Given the description of an element on the screen output the (x, y) to click on. 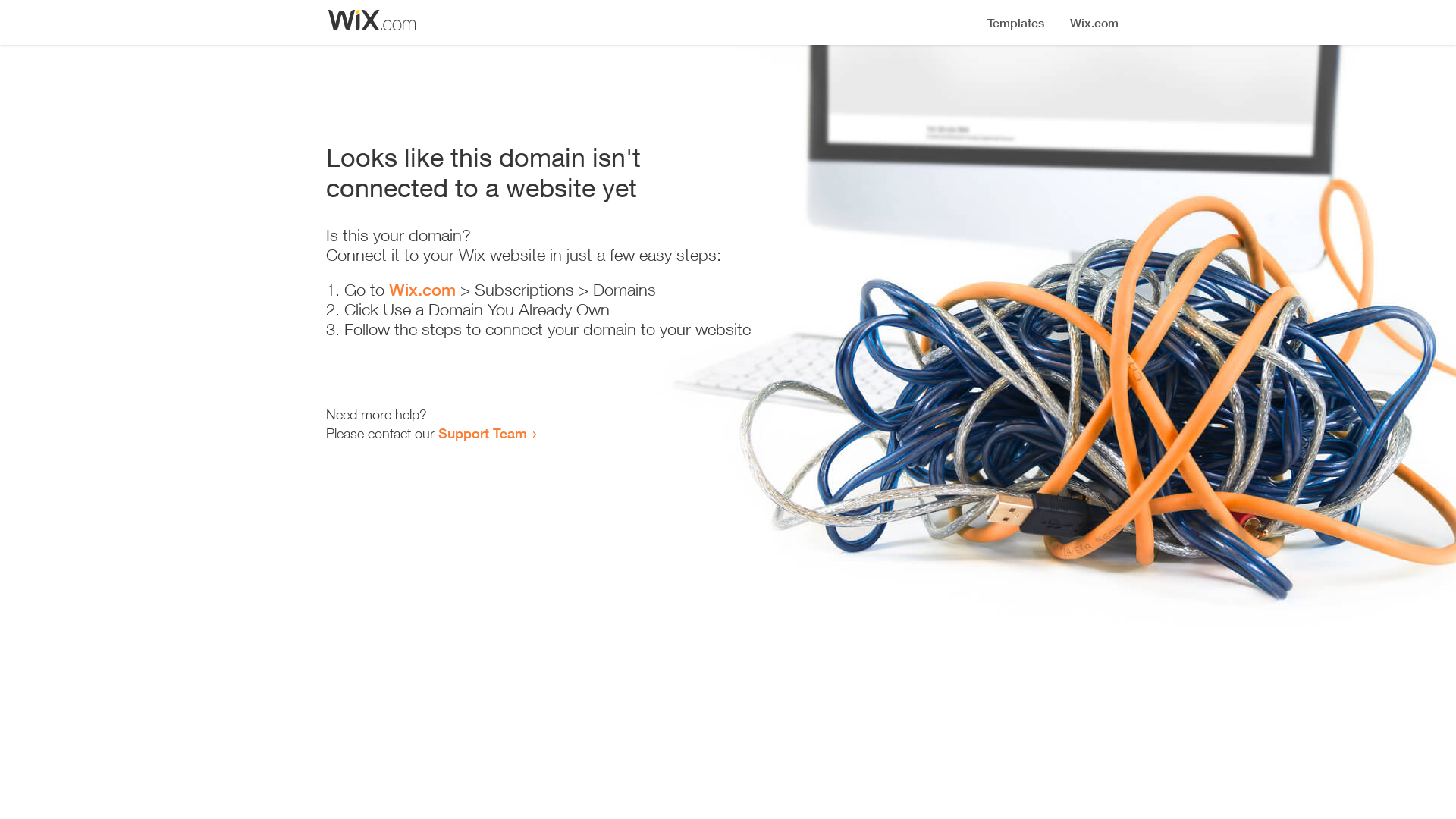
Wix.com Element type: text (422, 289)
Support Team Element type: text (482, 432)
